Given the description of an element on the screen output the (x, y) to click on. 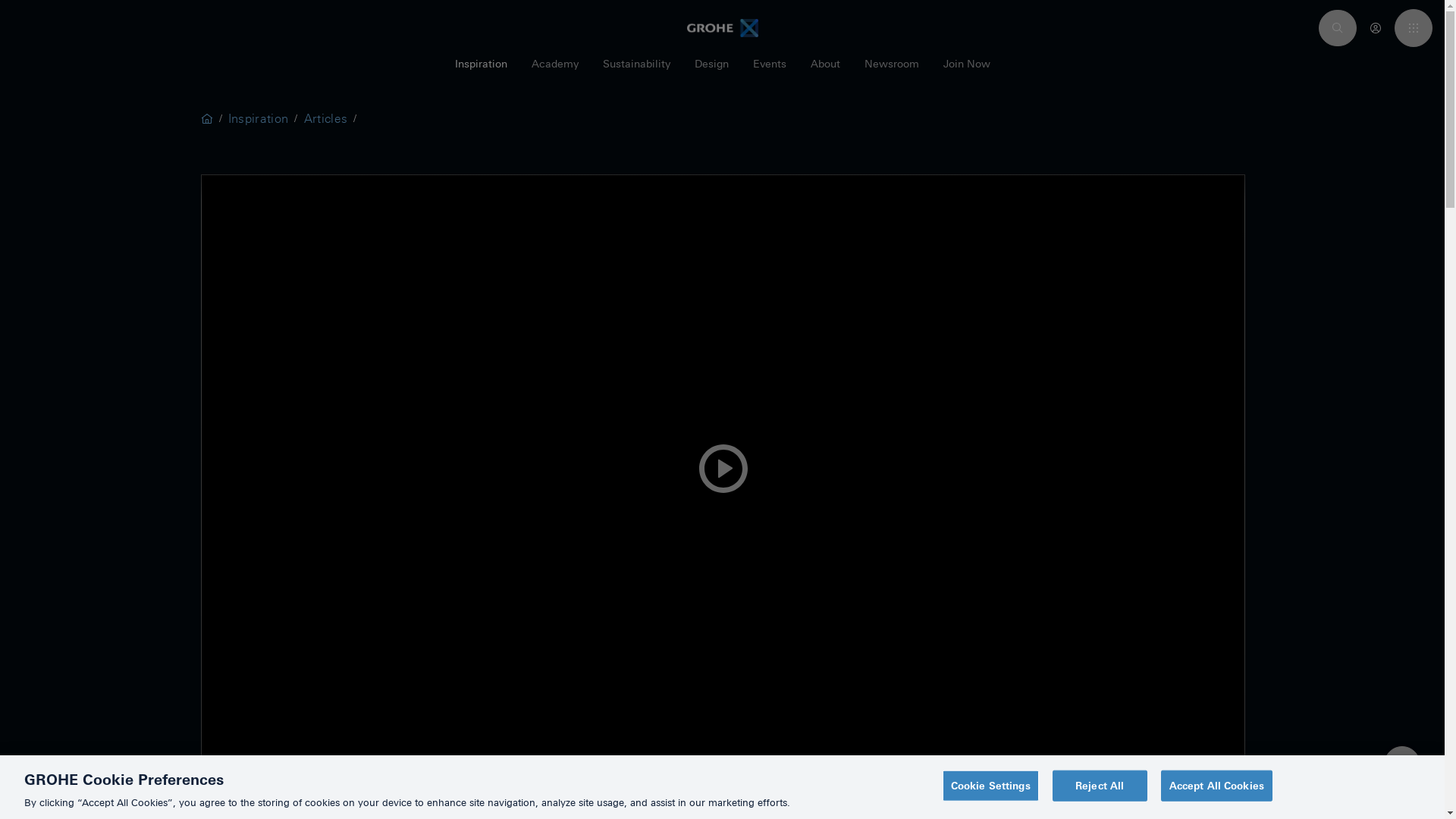
Login (1375, 27)
Inspiration (480, 70)
